Given the description of an element on the screen output the (x, y) to click on. 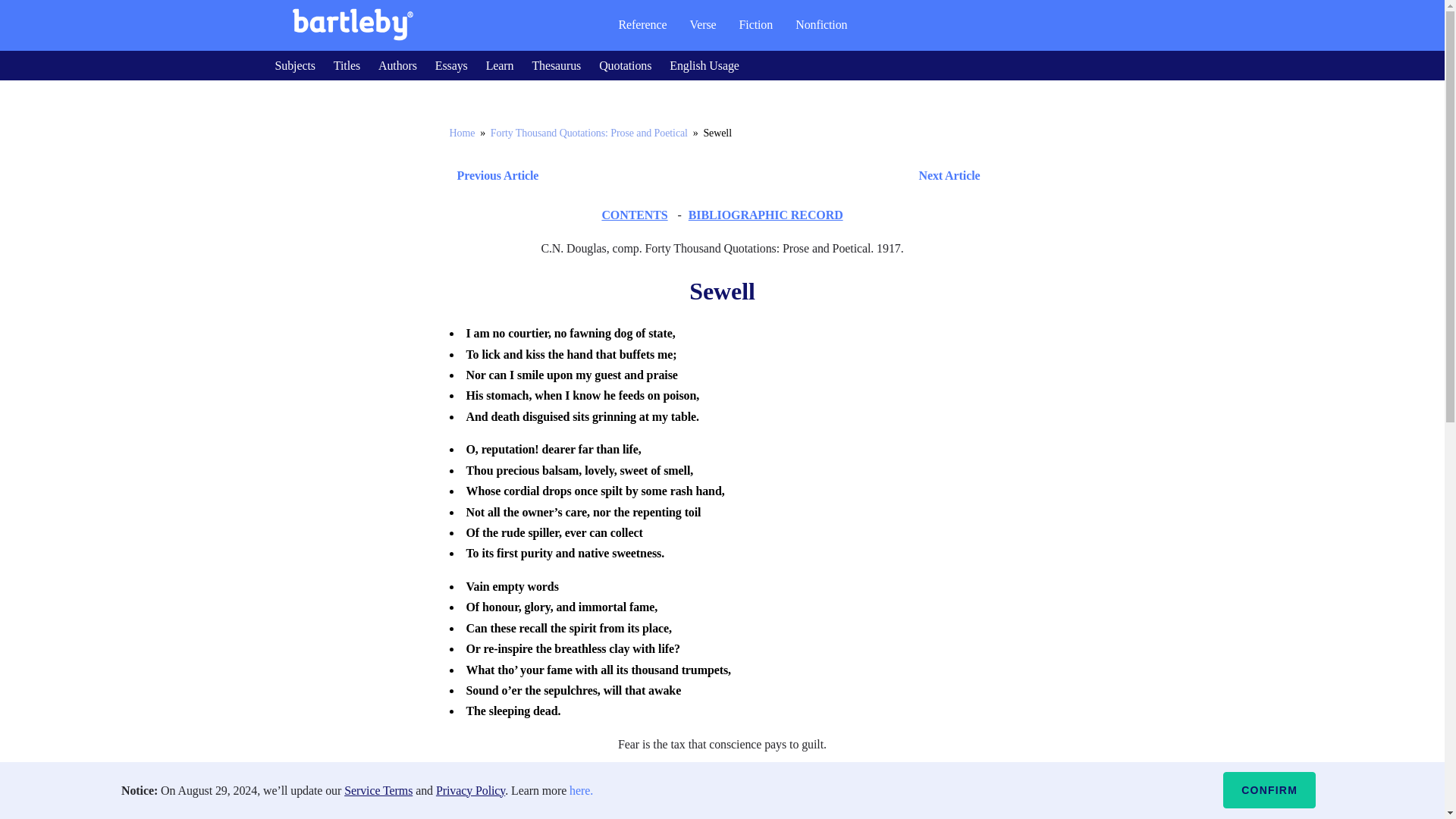
Previous Article (493, 175)
CONTENTS (633, 214)
Home (461, 132)
Subjects (294, 65)
Forty Thousand Quotations: Prose and Poetical (588, 132)
Verse (702, 24)
Nonfiction (821, 24)
Thesaurus (555, 65)
BIBLIOGRAPHIC RECORD (765, 214)
Authors (397, 65)
